Given the description of an element on the screen output the (x, y) to click on. 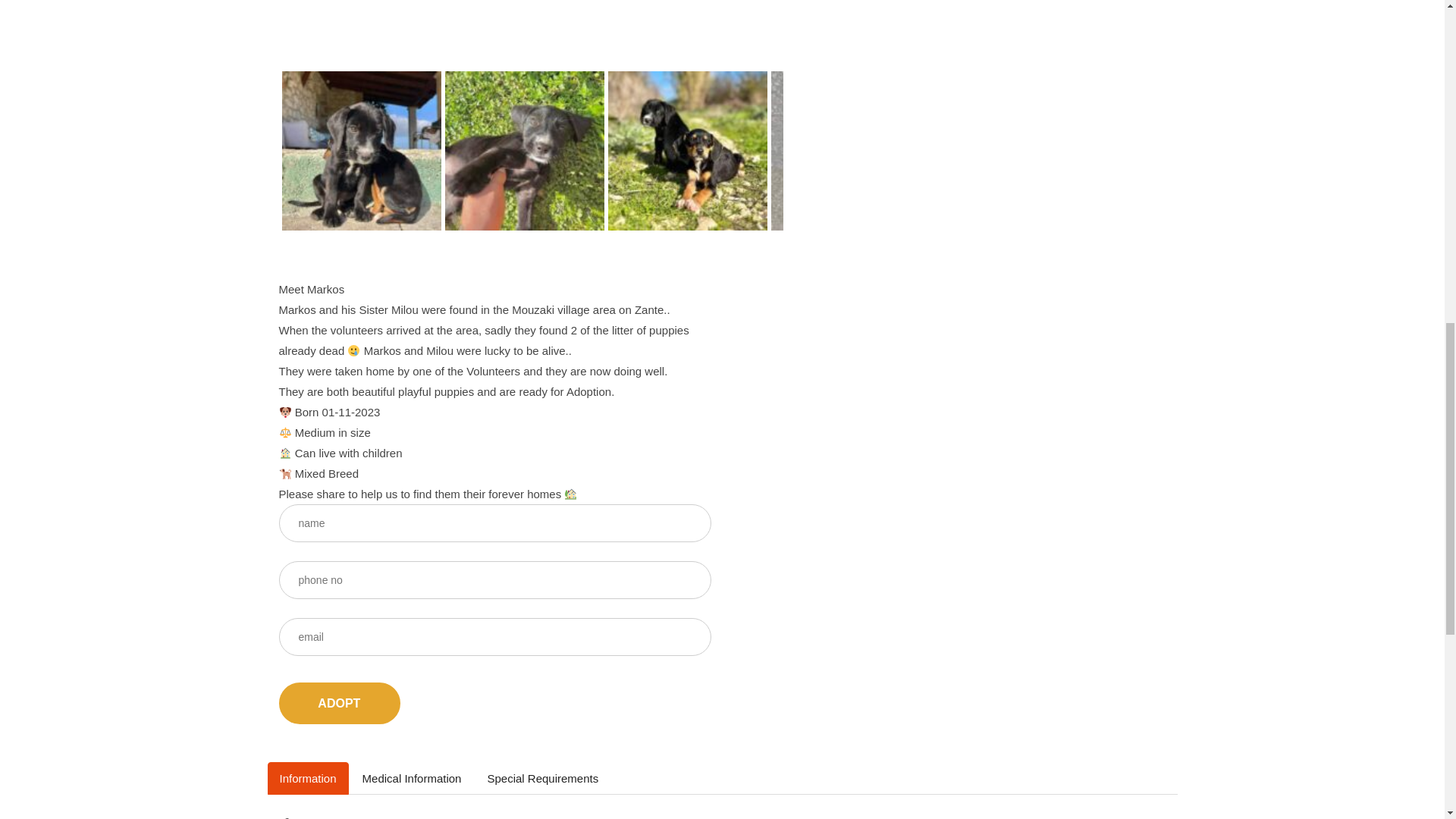
Special Requirements (542, 778)
Medical Information (412, 778)
Information (306, 778)
 Adopt  (339, 702)
 Adopt  (339, 702)
